Given the description of an element on the screen output the (x, y) to click on. 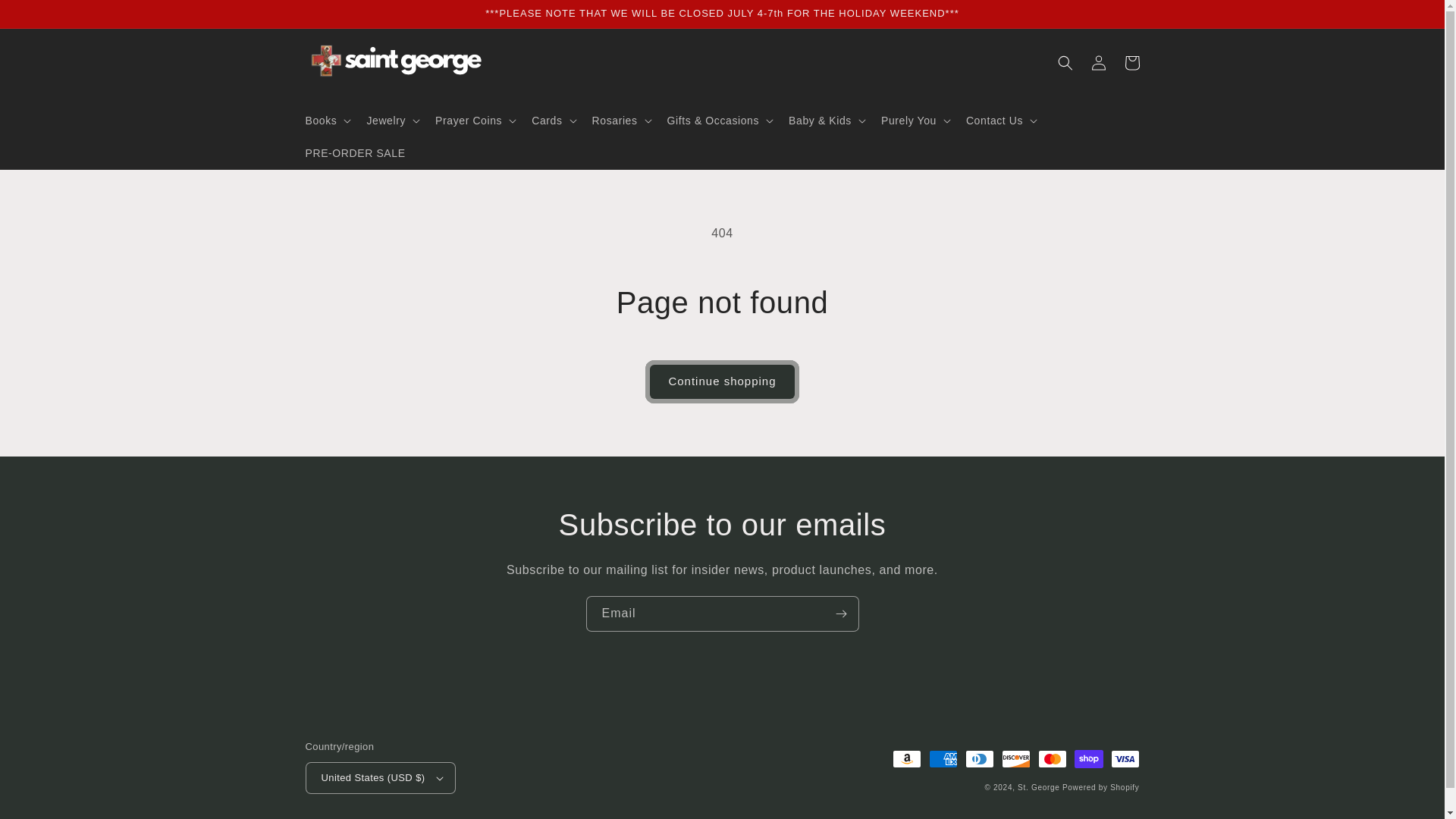
Skip to content (49, 21)
